Given the description of an element on the screen output the (x, y) to click on. 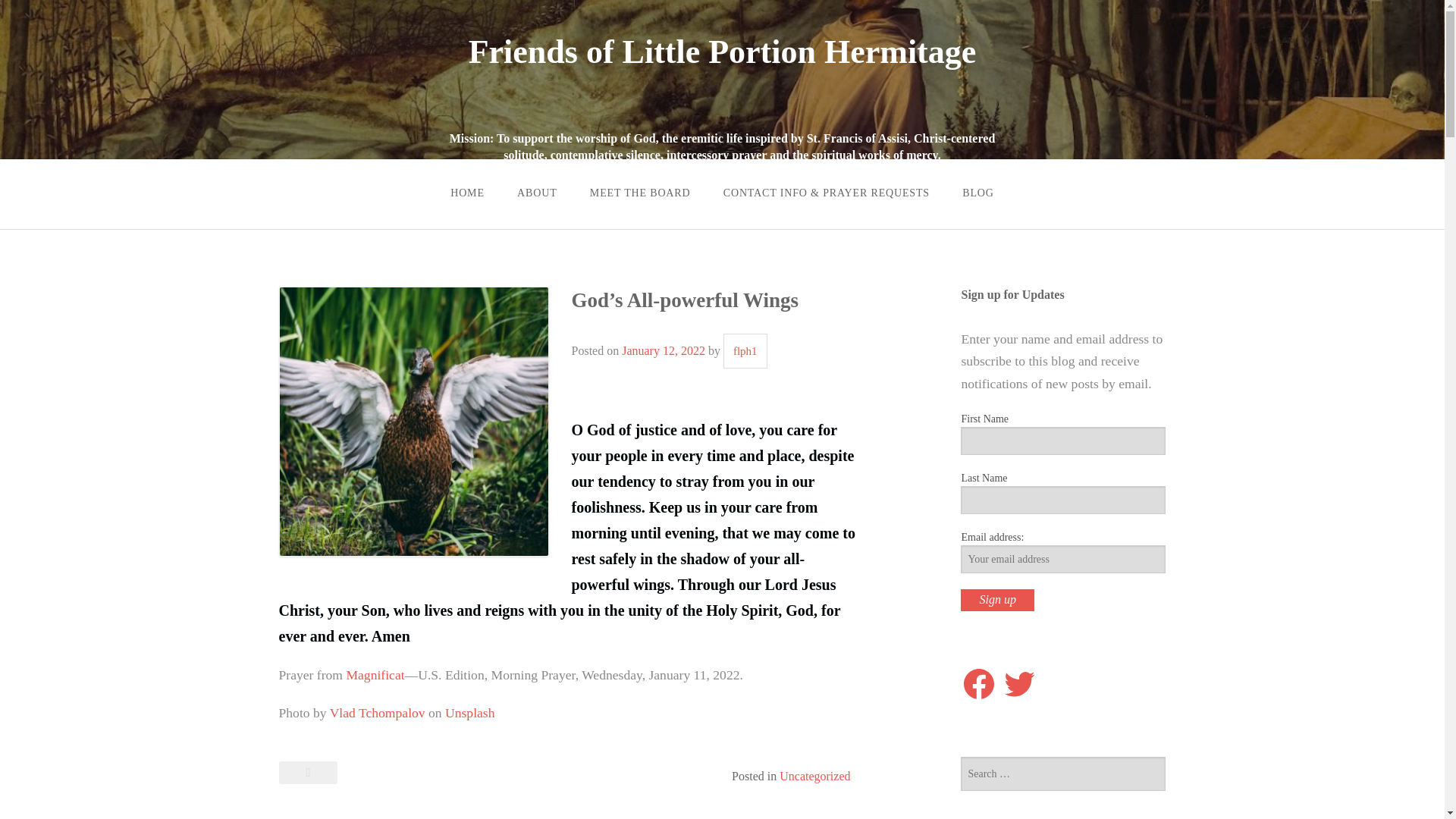
Magnificat (375, 674)
January 12, 2022 (662, 350)
Uncategorized (814, 775)
Facebook (978, 683)
Sign up (996, 599)
Sign up (996, 599)
Unsplash (470, 712)
Search (34, 11)
BLOG (978, 192)
Friends of Little Portion Hermitage (722, 51)
MEET THE BOARD (639, 192)
HOME (466, 192)
ABOUT (536, 192)
flph1 (745, 350)
Vlad Tchompalov (377, 712)
